Given the description of an element on the screen output the (x, y) to click on. 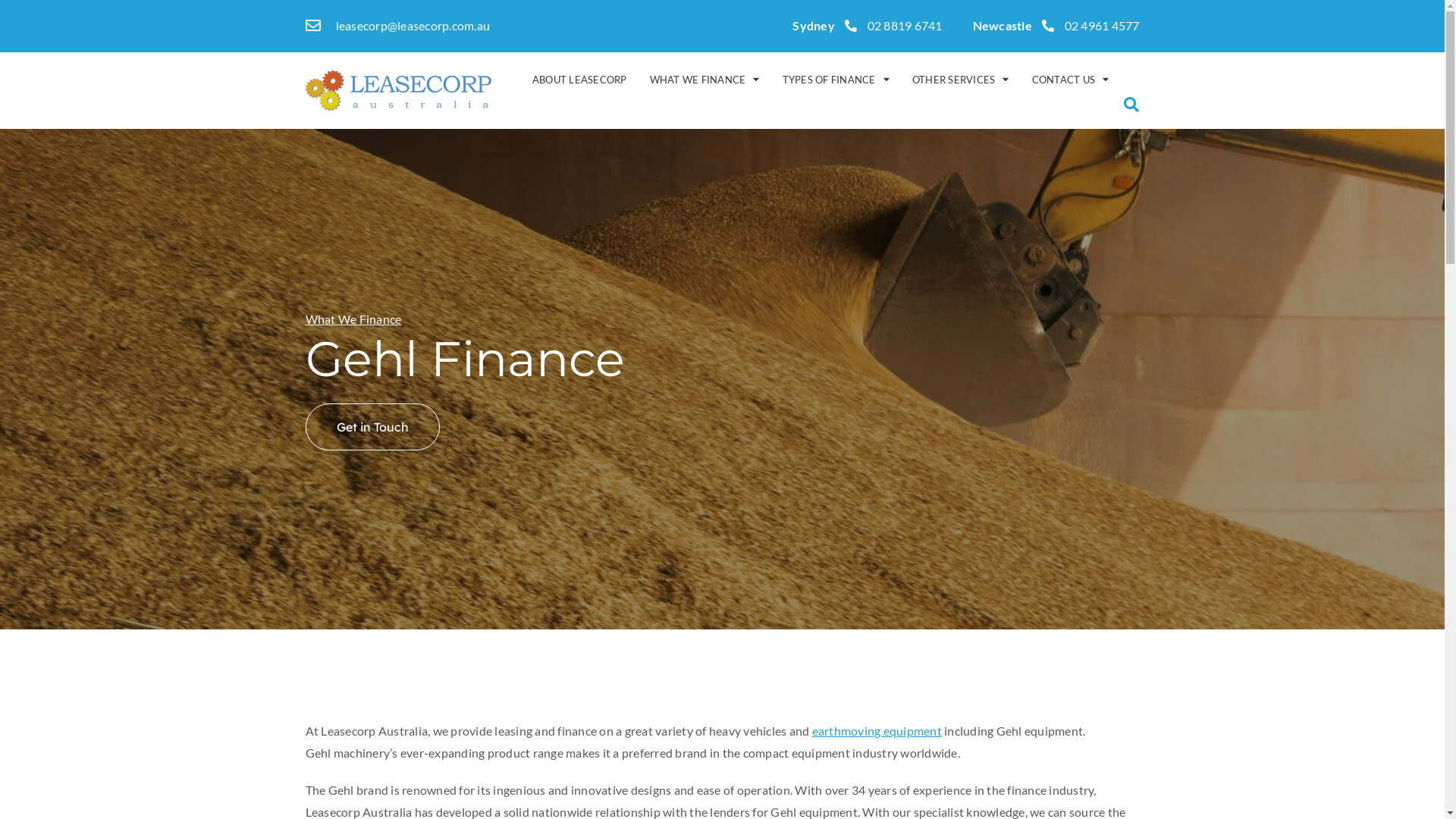
CONTACT US Element type: text (1069, 79)
Sydney 02 8819 6741 Element type: text (866, 26)
OTHER SERVICES Element type: text (960, 79)
earthmoving equipment Element type: text (876, 730)
leasecorp@leasecorp.com.au Element type: text (396, 26)
WHAT WE FINANCE Element type: text (704, 79)
TYPES OF FINANCE Element type: text (835, 79)
Get in Touch Element type: text (371, 426)
ABOUT LEASECORP Element type: text (579, 79)
Newcastle 02 4961 4577 Element type: text (1055, 26)
What We Finance Element type: text (352, 318)
